Given the description of an element on the screen output the (x, y) to click on. 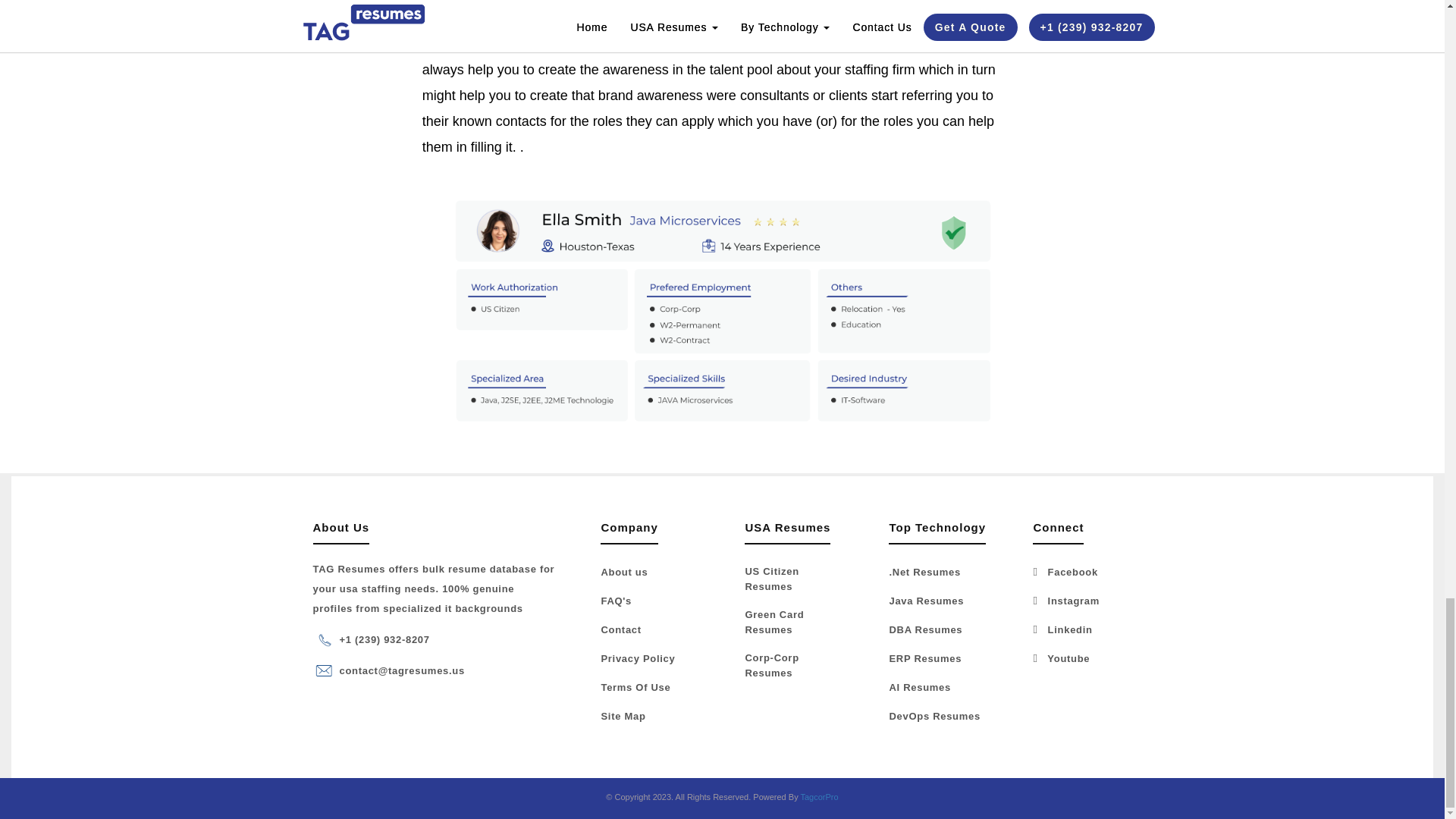
Terms Of Use (634, 689)
About us (623, 574)
FAQ's (615, 602)
Privacy Policy (637, 660)
Contact (619, 631)
